Given the description of an element on the screen output the (x, y) to click on. 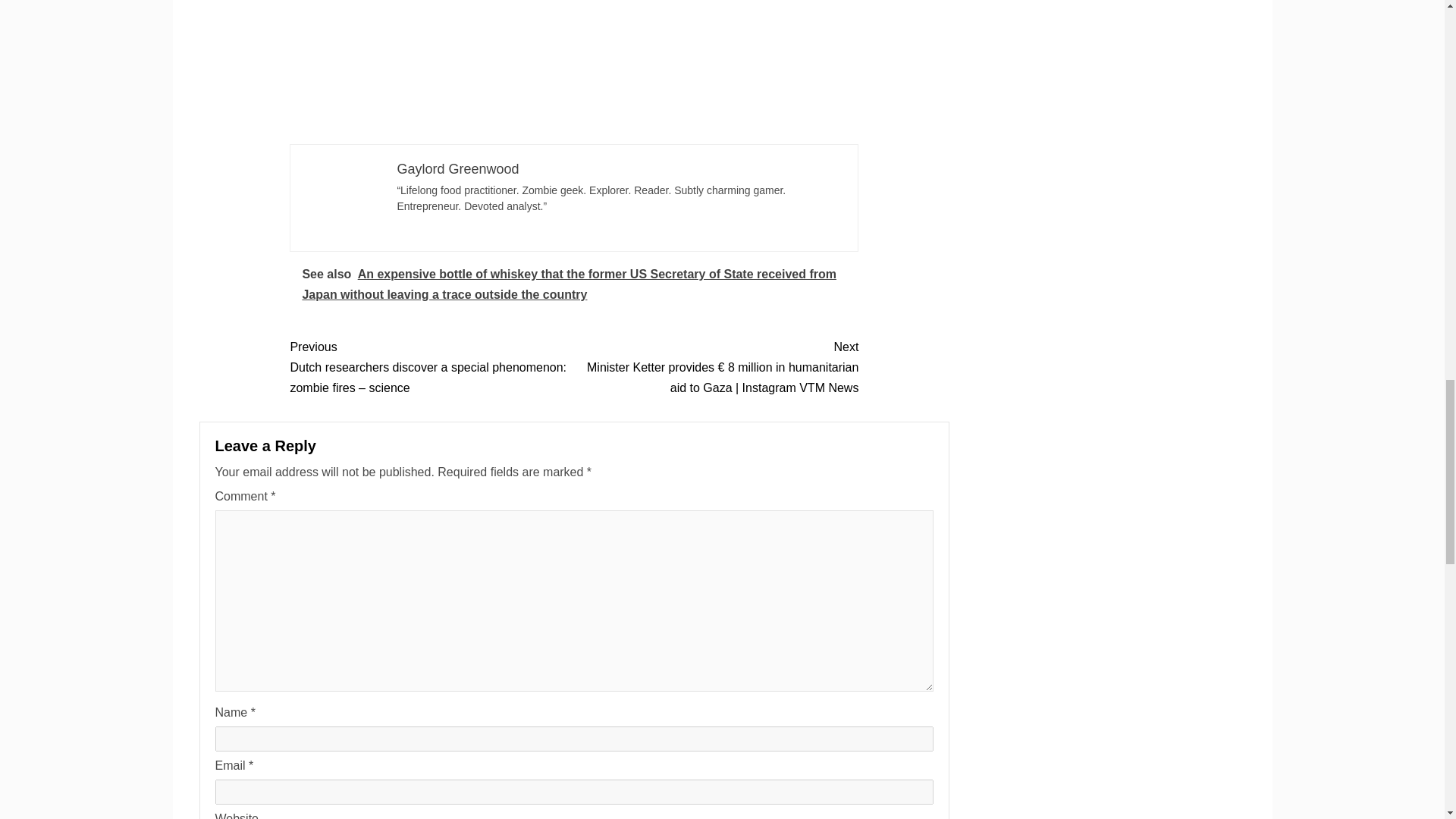
Gaylord Greenwood (457, 168)
Advertisement (574, 68)
